Given the description of an element on the screen output the (x, y) to click on. 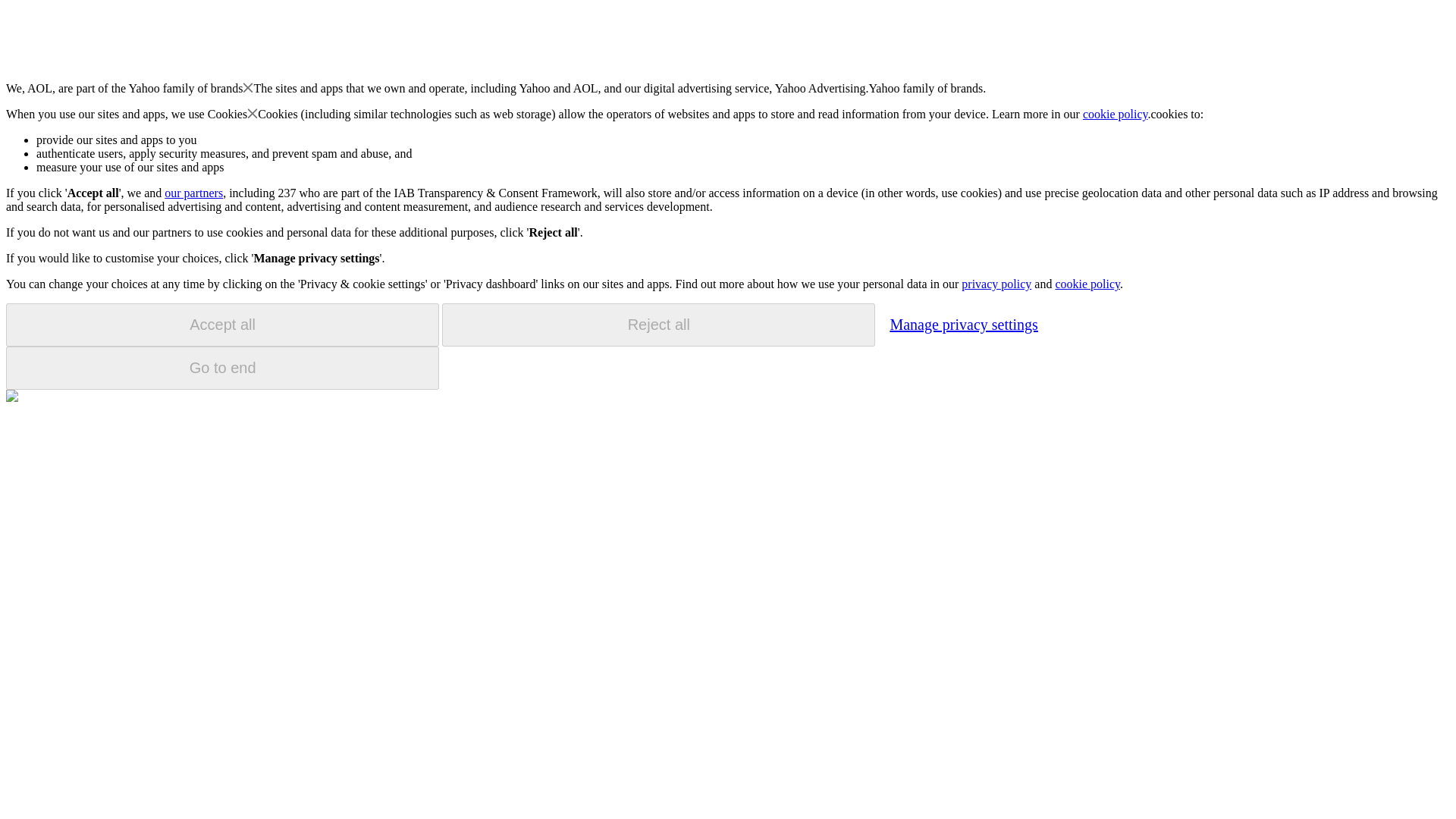
Go to end (222, 367)
cookie policy (1086, 283)
Reject all (658, 324)
our partners (193, 192)
Manage privacy settings (963, 323)
cookie policy (1115, 113)
Accept all (222, 324)
privacy policy (995, 283)
